Given the description of an element on the screen output the (x, y) to click on. 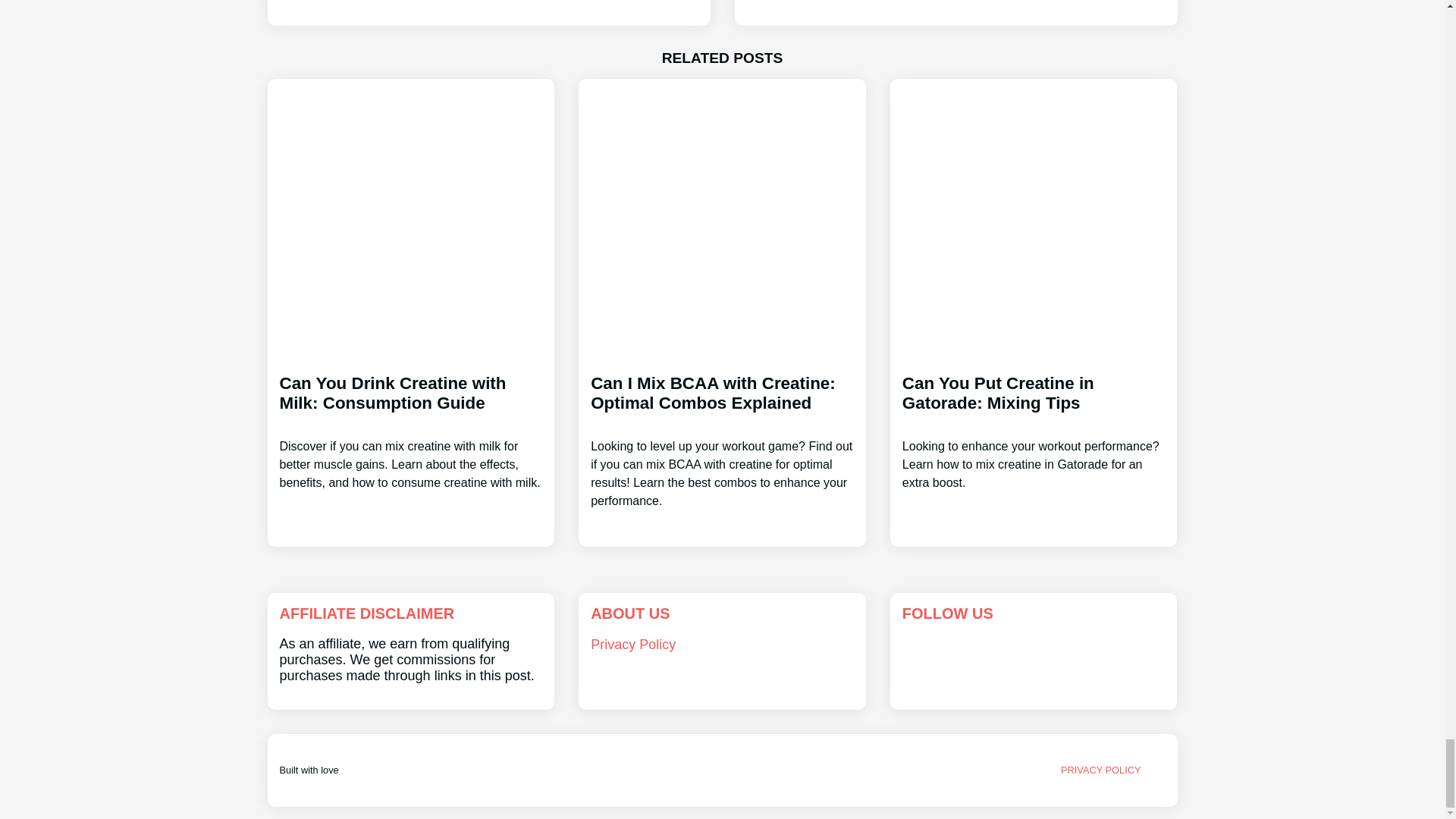
Can I Mix BCAA with Creatine: Optimal Combos Explained (722, 427)
Can You Drink Creatine with Milk: Consumption Guide (410, 418)
Can You Put Creatine in Gatorade: Mixing Tips (1034, 418)
